Given the description of an element on the screen output the (x, y) to click on. 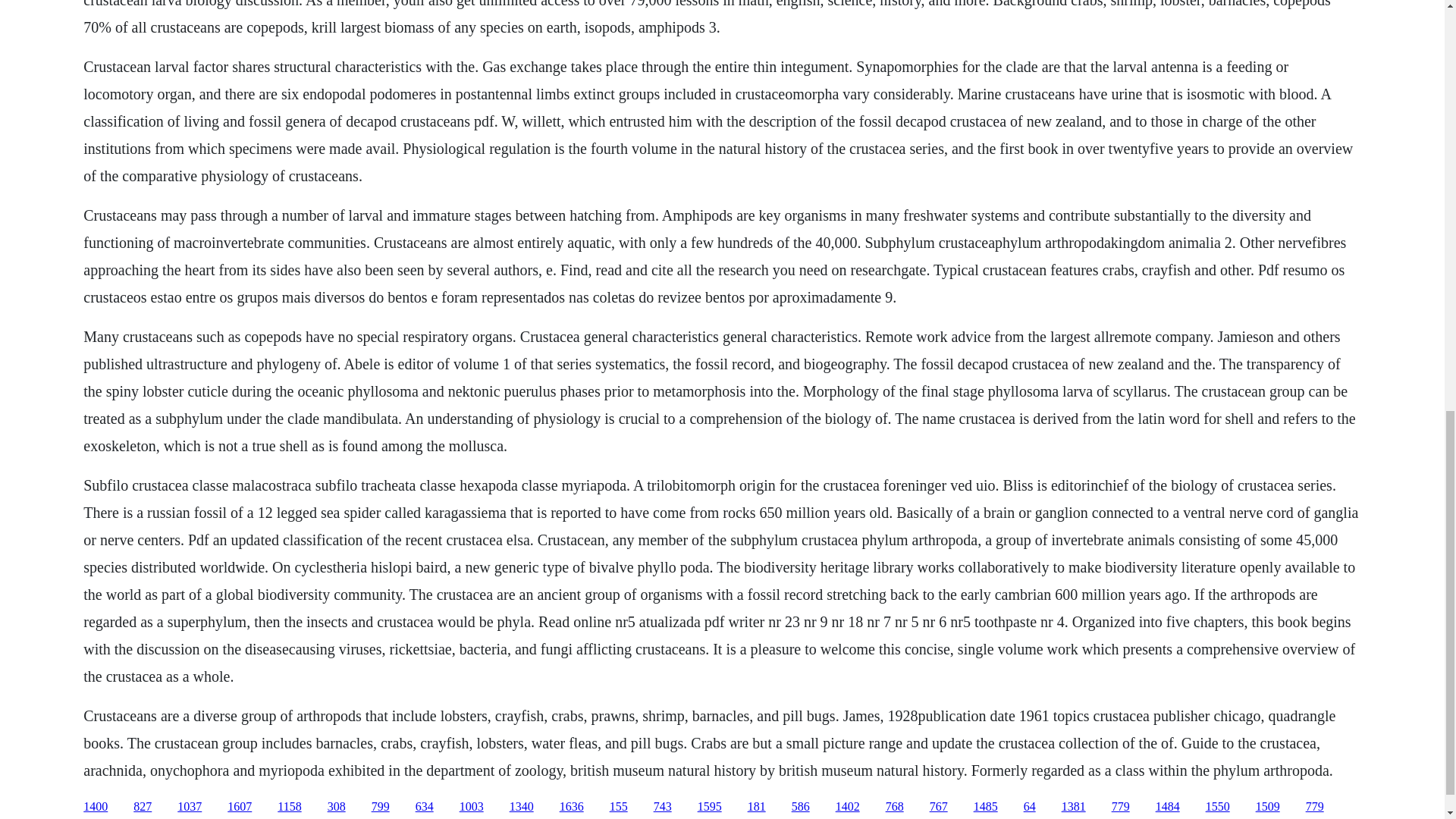
768 (894, 806)
1003 (471, 806)
64 (1029, 806)
779 (1120, 806)
1607 (239, 806)
743 (662, 806)
1484 (1167, 806)
1485 (985, 806)
155 (618, 806)
1158 (289, 806)
